Given the description of an element on the screen output the (x, y) to click on. 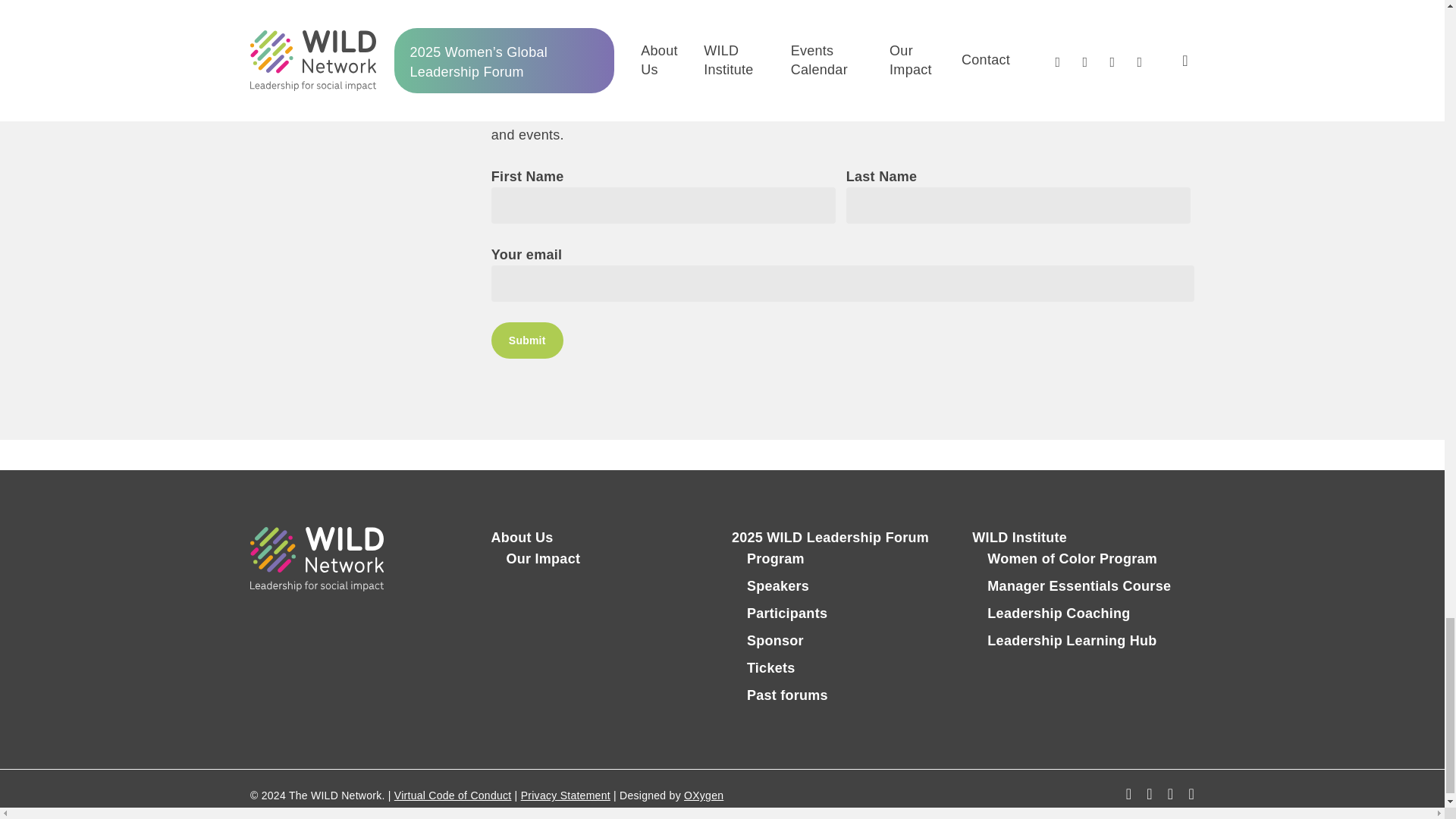
Submit (527, 340)
